Given the description of an element on the screen output the (x, y) to click on. 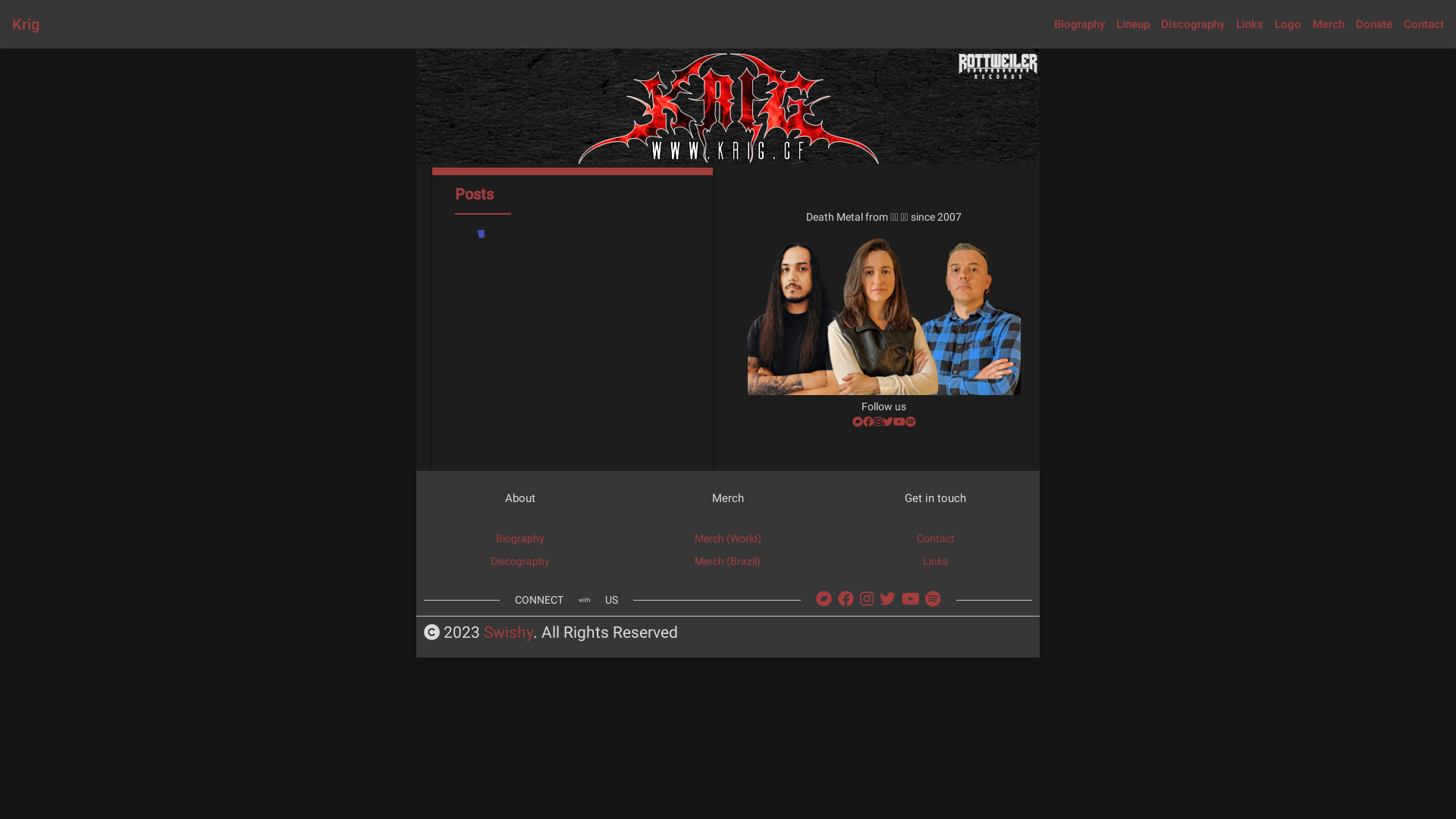
Merch (World) Element type: text (727, 538)
Contact Element type: text (1423, 24)
Youtube Element type: hover (899, 421)
Logo Element type: text (1287, 24)
Discography Element type: text (1192, 24)
Contact Element type: text (935, 538)
Biography Element type: text (519, 538)
Spotify Element type: hover (910, 421)
Discography Element type: text (519, 561)
Bandcamp Element type: hover (857, 421)
Bandcamp Element type: hover (823, 598)
Youtube Element type: hover (910, 598)
Krig Element type: text (25, 24)
Merch (Brazil) Element type: text (727, 561)
Spotify Element type: hover (932, 598)
Donate Element type: text (1373, 24)
Twitter Element type: hover (887, 421)
Facebook Element type: hover (867, 421)
Lineup Element type: text (1132, 24)
Swishy Element type: text (508, 633)
Links Element type: text (1249, 24)
Merch Element type: text (1328, 24)
Instagram Element type: hover (866, 598)
Links Element type: text (934, 561)
Facebook Element type: hover (845, 598)
Instagram Element type: hover (877, 421)
Twitter Element type: hover (887, 598)
Biography Element type: text (1079, 24)
